Given the description of an element on the screen output the (x, y) to click on. 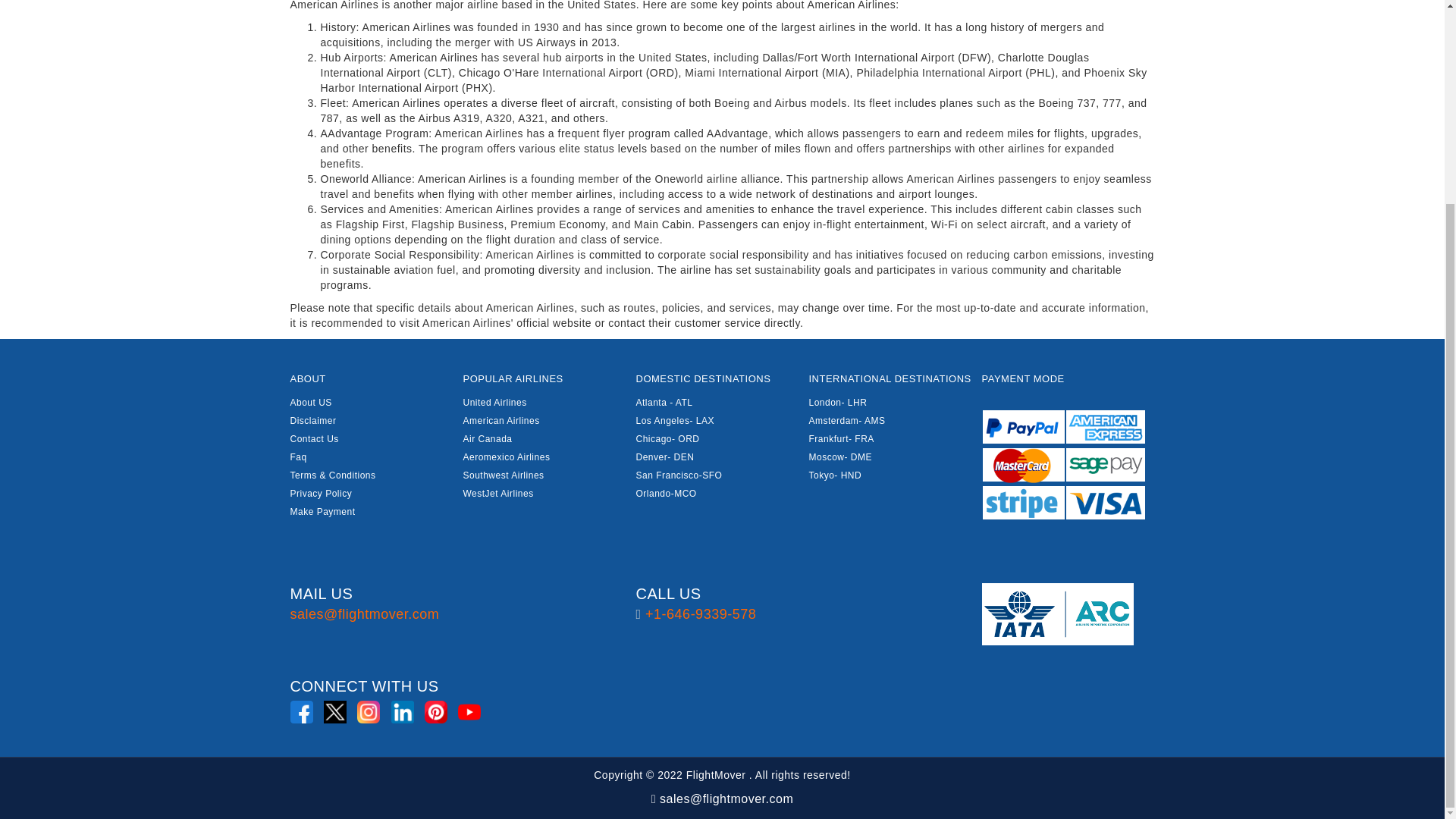
Amsterdam- AMS (846, 420)
Privacy Policy (320, 493)
Make Payment (322, 511)
Sagepay (1104, 464)
Disclaimer (312, 420)
Chicago- ORD (666, 439)
Air Canada (487, 439)
American Airlines (500, 420)
WestJet Airlines (497, 493)
Visa (1104, 502)
Faq (297, 457)
 American Express (1104, 426)
San Francisco-SFO (678, 475)
London- LHR (837, 402)
Frankfurt- FRA (840, 439)
